Given the description of an element on the screen output the (x, y) to click on. 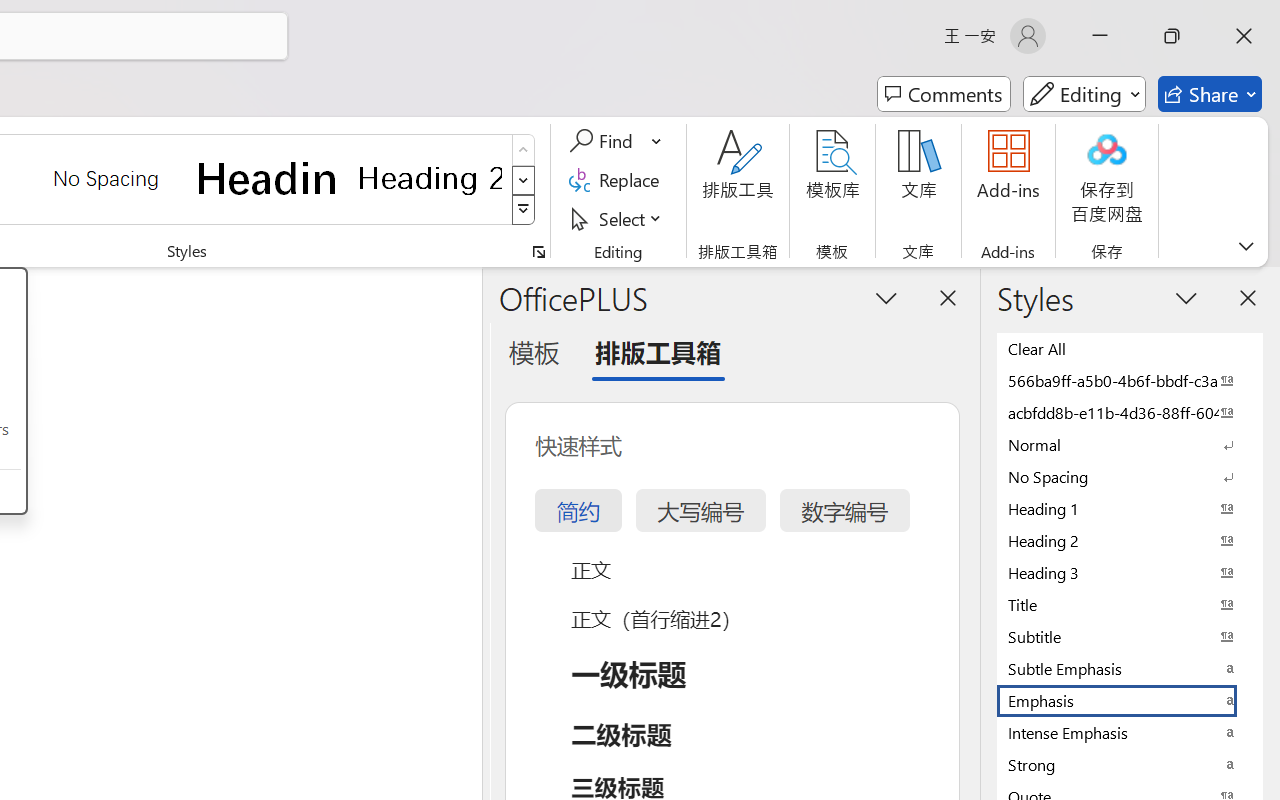
Styles... (538, 252)
Subtitle (1130, 636)
Subtle Emphasis (1130, 668)
Share (1210, 94)
Normal (1130, 444)
Mode (1083, 94)
Find (604, 141)
Task Pane Options (886, 297)
acbfdd8b-e11b-4d36-88ff-6049b138f862 (1130, 412)
